Given the description of an element on the screen output the (x, y) to click on. 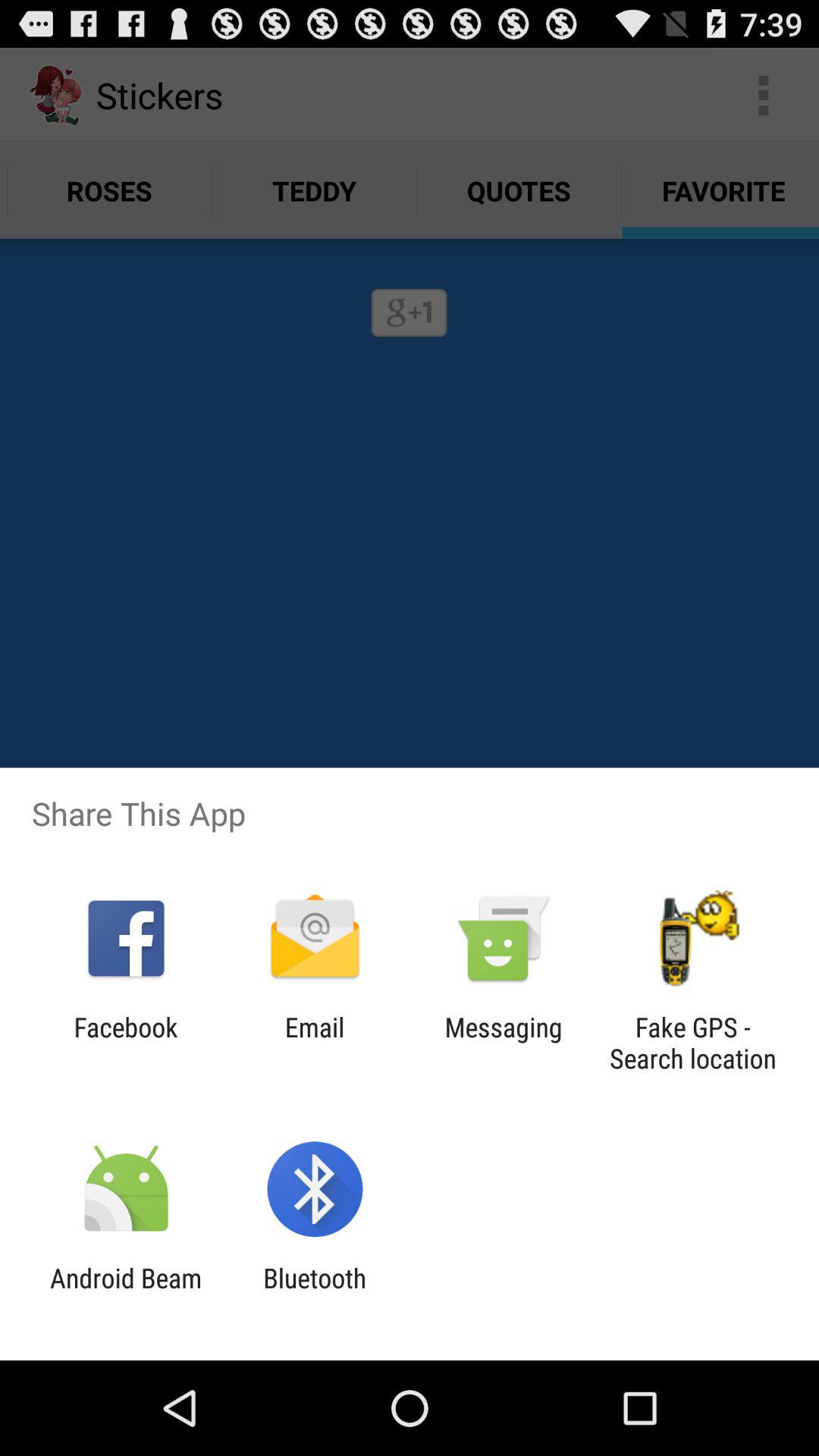
scroll to messaging icon (503, 1042)
